Given the description of an element on the screen output the (x, y) to click on. 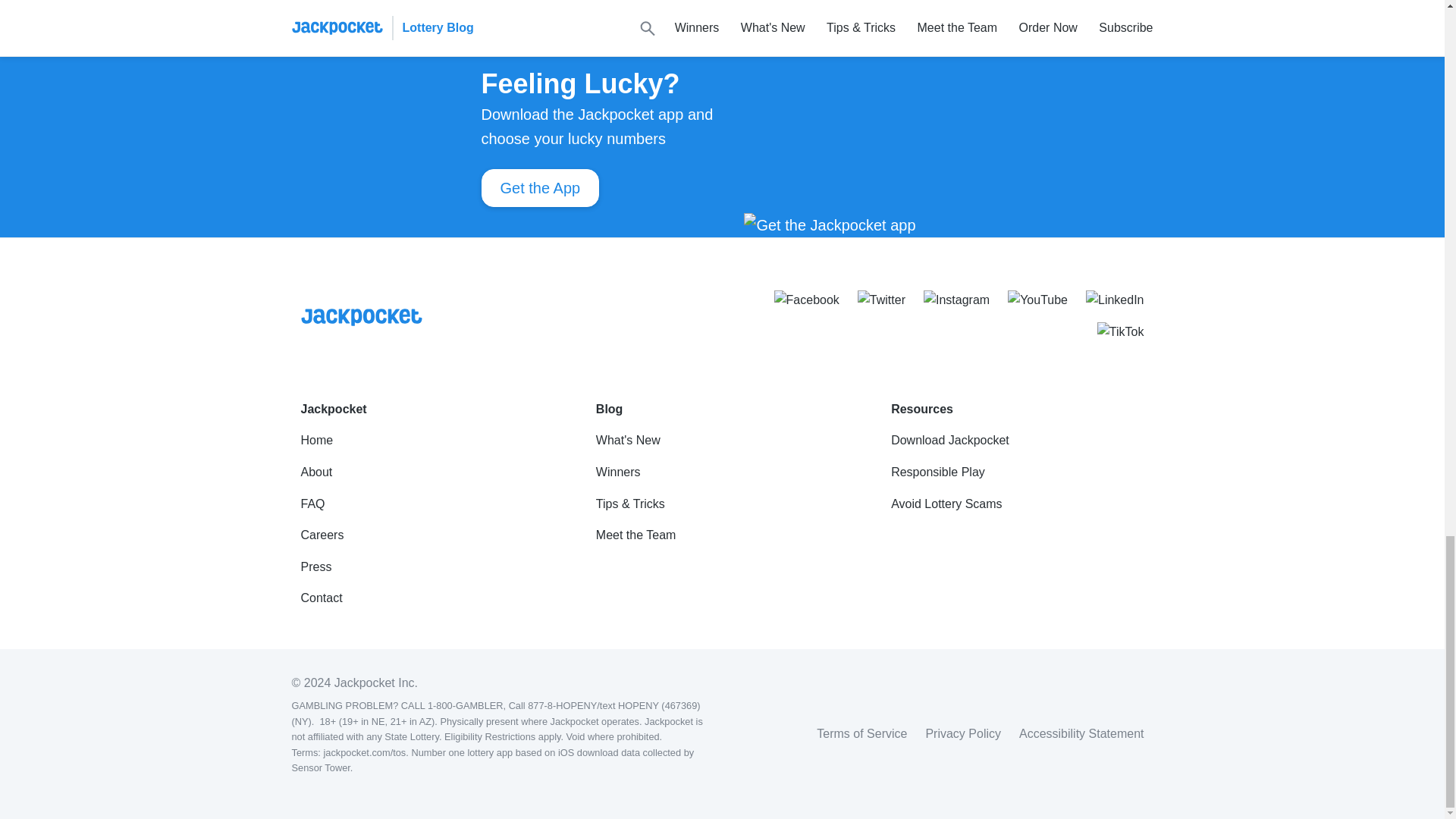
Get the App (539, 187)
play.jackpocket.com (740, 4)
FAQ (426, 504)
Download the Jackpocket app (520, 4)
Careers (426, 535)
Winners (721, 472)
Press (426, 567)
Contact (426, 598)
What's New (721, 440)
About (426, 472)
